Given the description of an element on the screen output the (x, y) to click on. 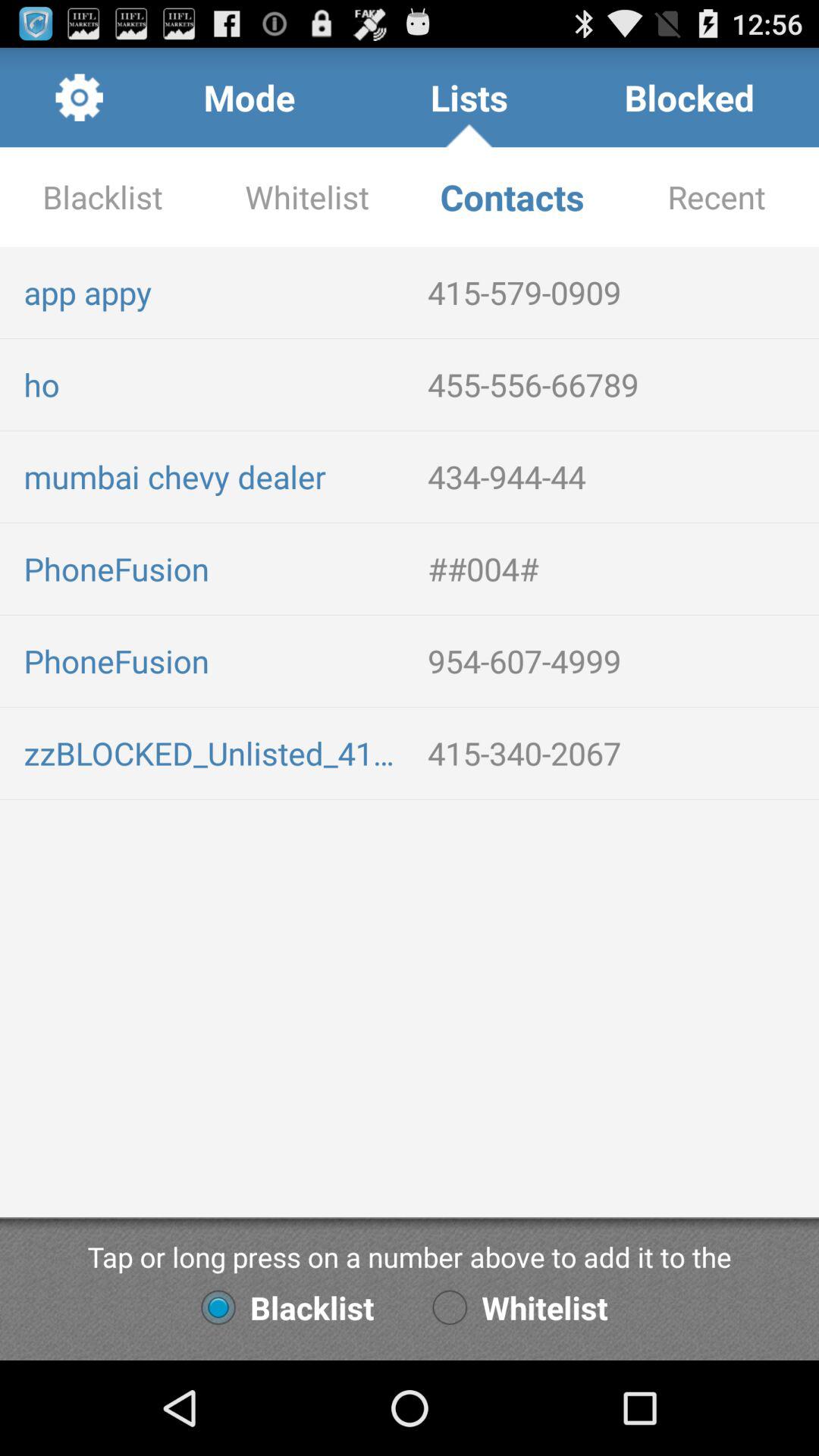
launch icon next to lists (689, 97)
